Given the description of an element on the screen output the (x, y) to click on. 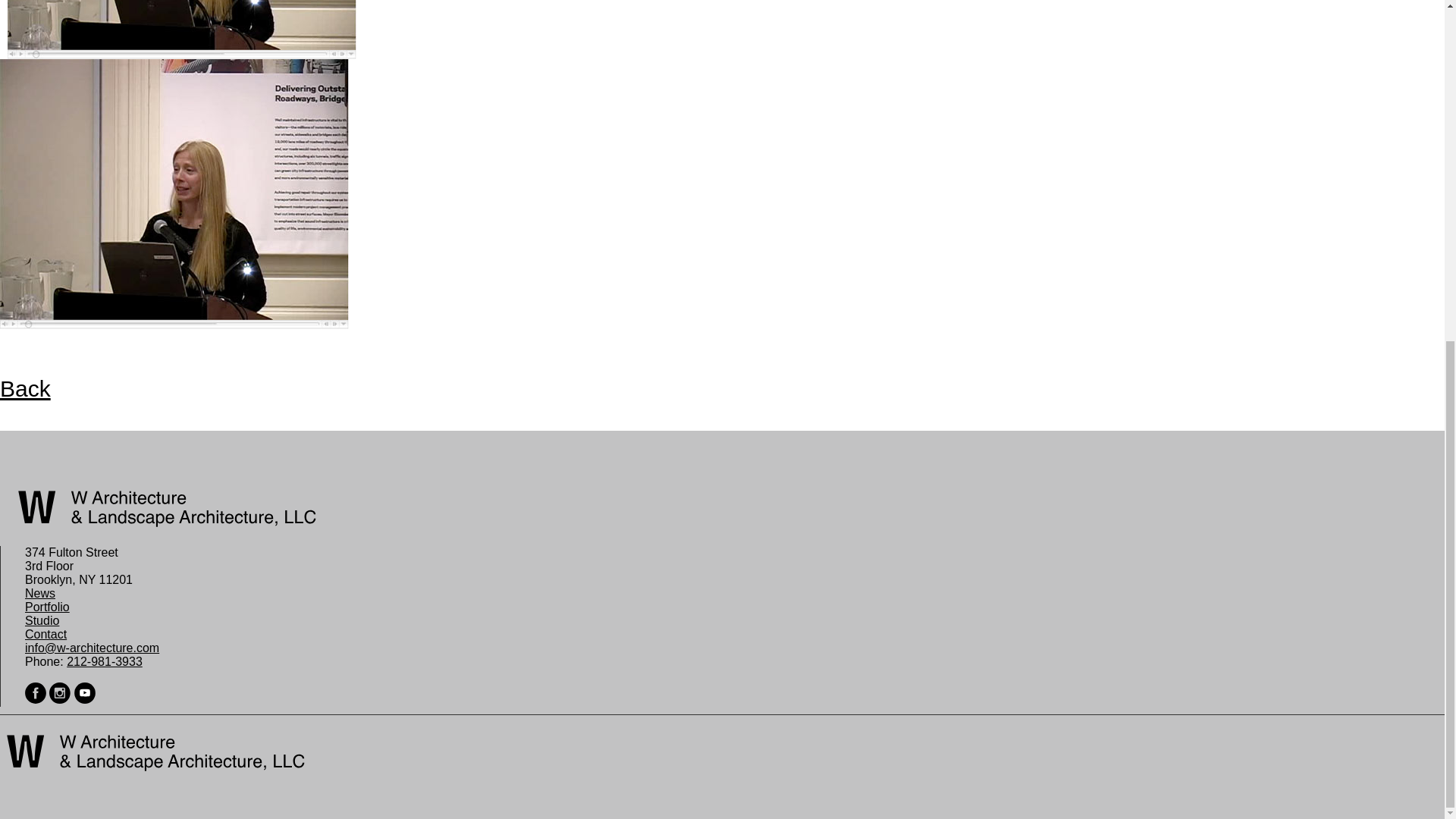
Portfolio (46, 606)
Studio (41, 620)
Back (74, 388)
212-981-3933 (104, 661)
News (39, 593)
Contact (45, 634)
